Given the description of an element on the screen output the (x, y) to click on. 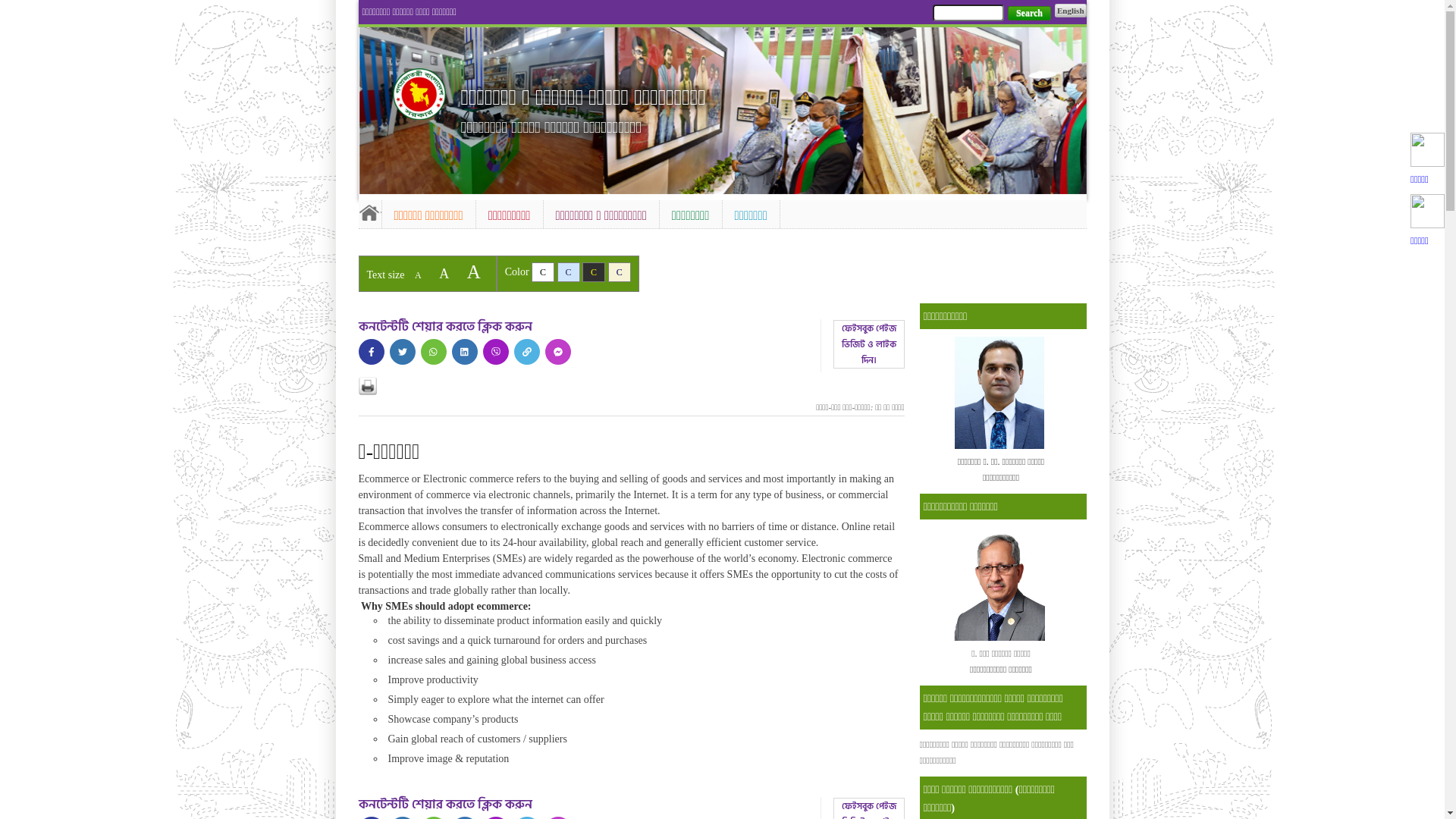
A Element type: text (443, 273)
C Element type: text (542, 272)
Search Element type: text (1029, 13)
A Element type: text (473, 271)
C Element type: text (568, 272)
English Element type: text (1069, 10)
A Element type: text (418, 275)
Home Element type: hover (368, 211)
C Element type: text (619, 272)
C Element type: text (593, 272)
Home Element type: hover (418, 93)
